Given the description of an element on the screen output the (x, y) to click on. 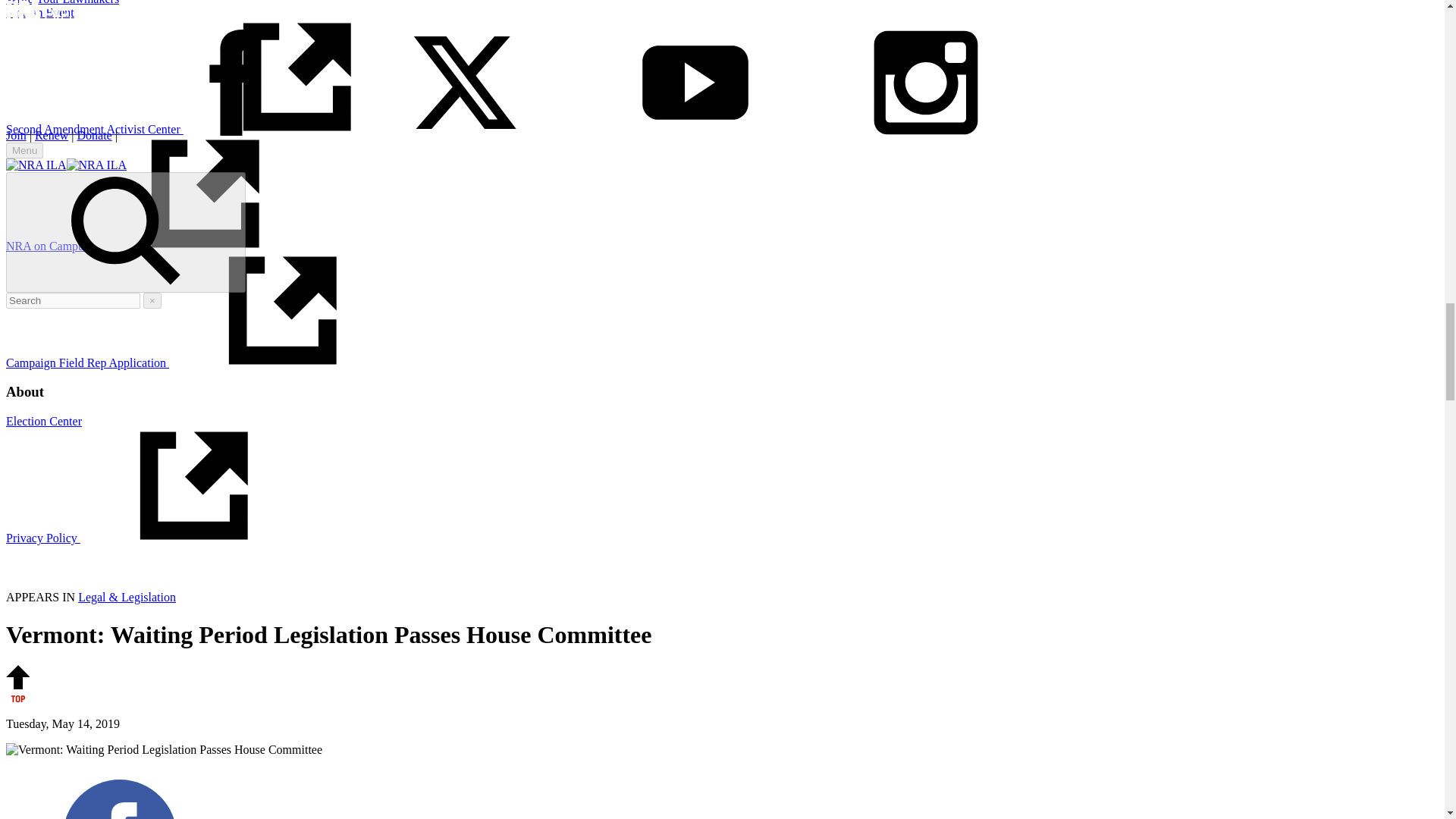
Facebook (118, 799)
